Given the description of an element on the screen output the (x, y) to click on. 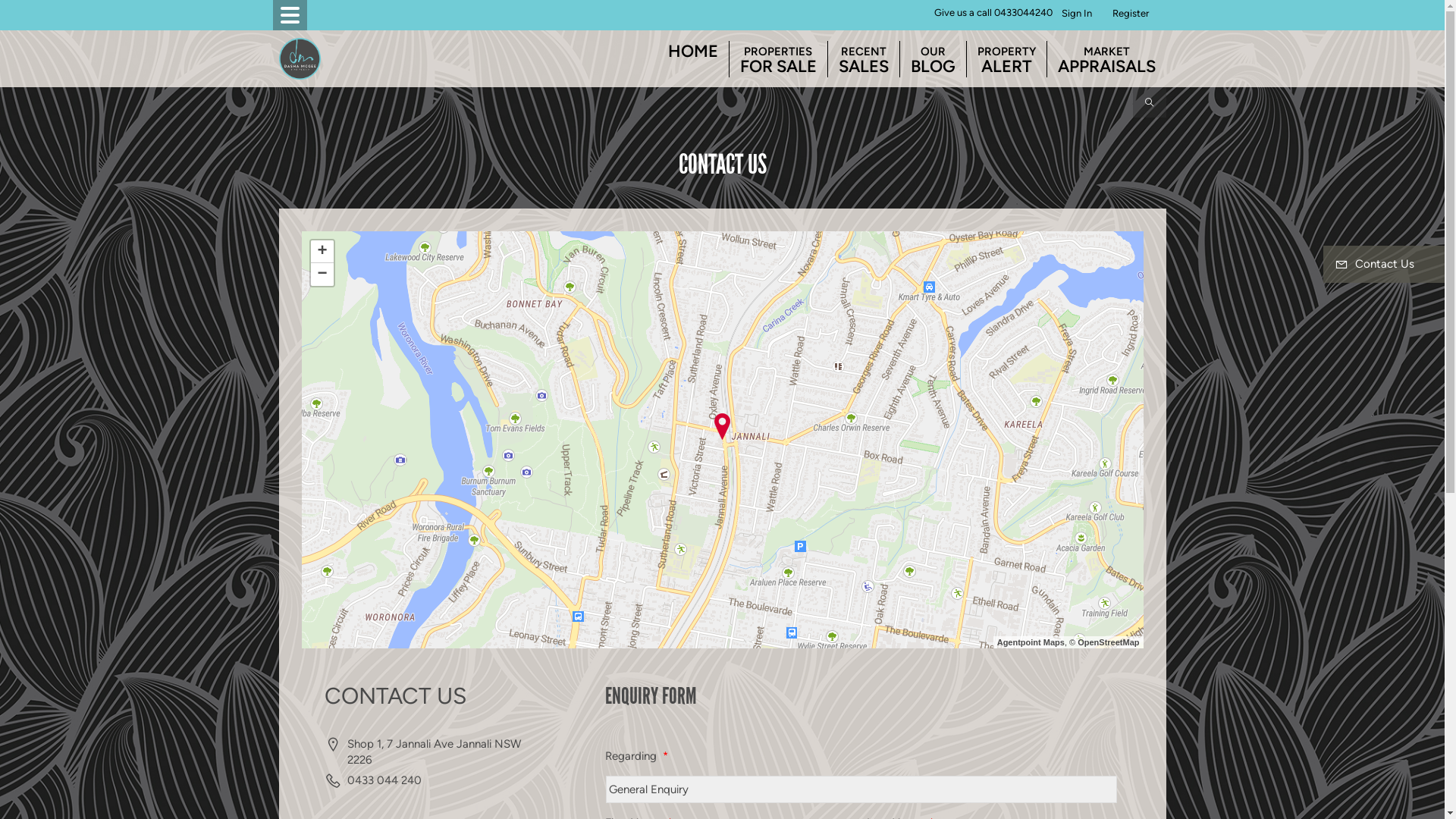
OpenStreetMap Element type: text (1108, 641)
MARKET
APPRAISALS Element type: text (1105, 58)
Sign In Element type: text (1076, 13)
+ Element type: text (321, 251)
Login Element type: text (1122, 14)
PROPERTY
ALERT Element type: text (1005, 58)
Contact Us Element type: text (1383, 263)
RECENT
SALES Element type: text (863, 58)
Agentpoint Maps Element type: text (1030, 641)
PROPERTIES
FOR SALE Element type: text (778, 58)
HOME Element type: text (692, 51)
Give us a call 0433044240 Element type: text (993, 13)
OUR
BLOG Element type: text (932, 58)
? Element type: text (1155, 14)
Register Element type: text (1130, 13)
